Given the description of an element on the screen output the (x, y) to click on. 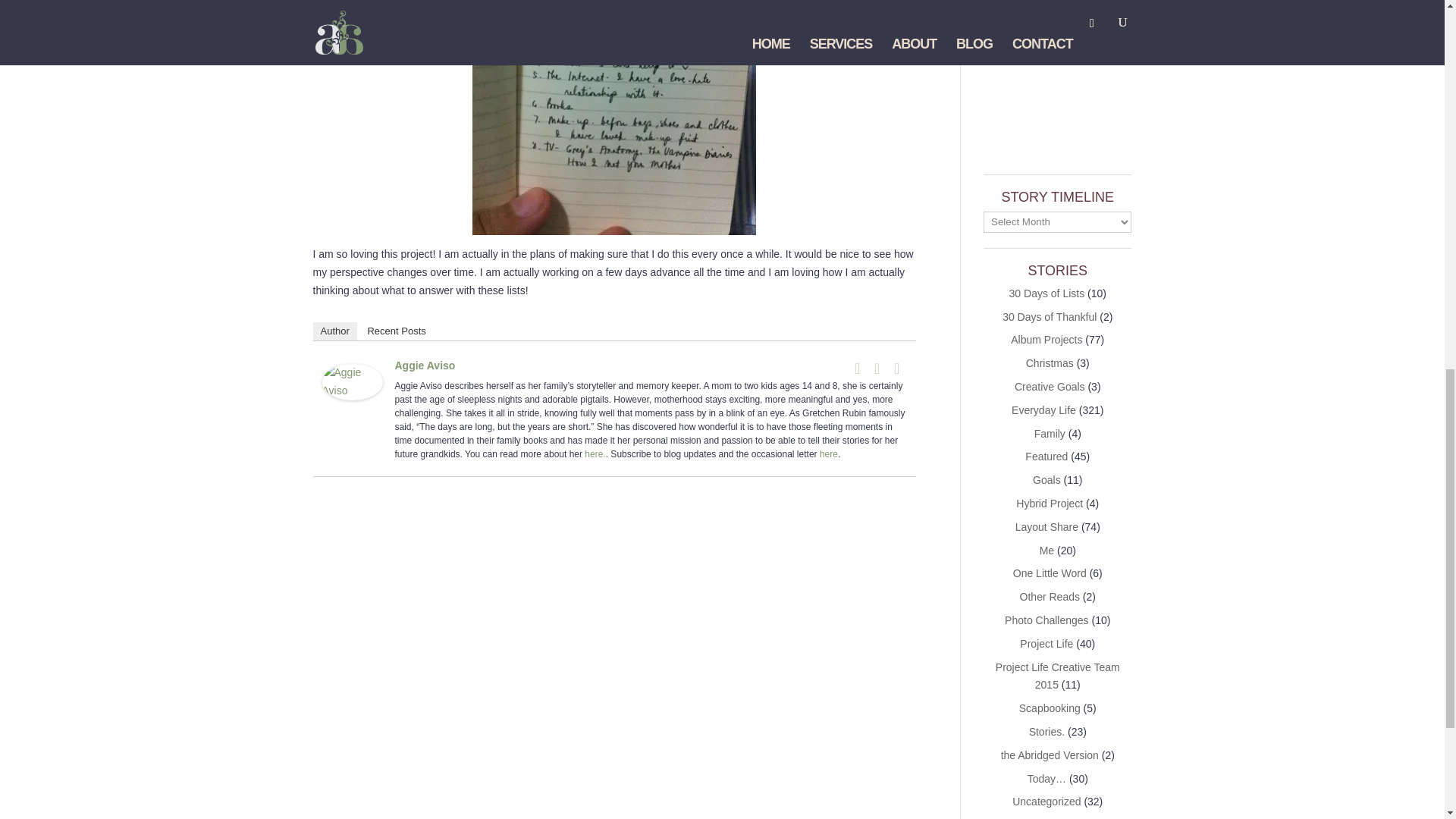
Day 14 by aggietha, on Flickr (613, 224)
Me (1046, 550)
Instagram (896, 368)
Christmas (1050, 363)
Hybrid Project (1049, 503)
30 Days of Thankful (1049, 316)
Featured (1046, 456)
Album Projects (1045, 339)
Aggie Aviso (351, 390)
30 Days of Lists (1046, 293)
Recent Posts (395, 331)
Creative Goals (1049, 386)
One Little Word (1049, 573)
Family (1049, 433)
Layout Share (1046, 526)
